Given the description of an element on the screen output the (x, y) to click on. 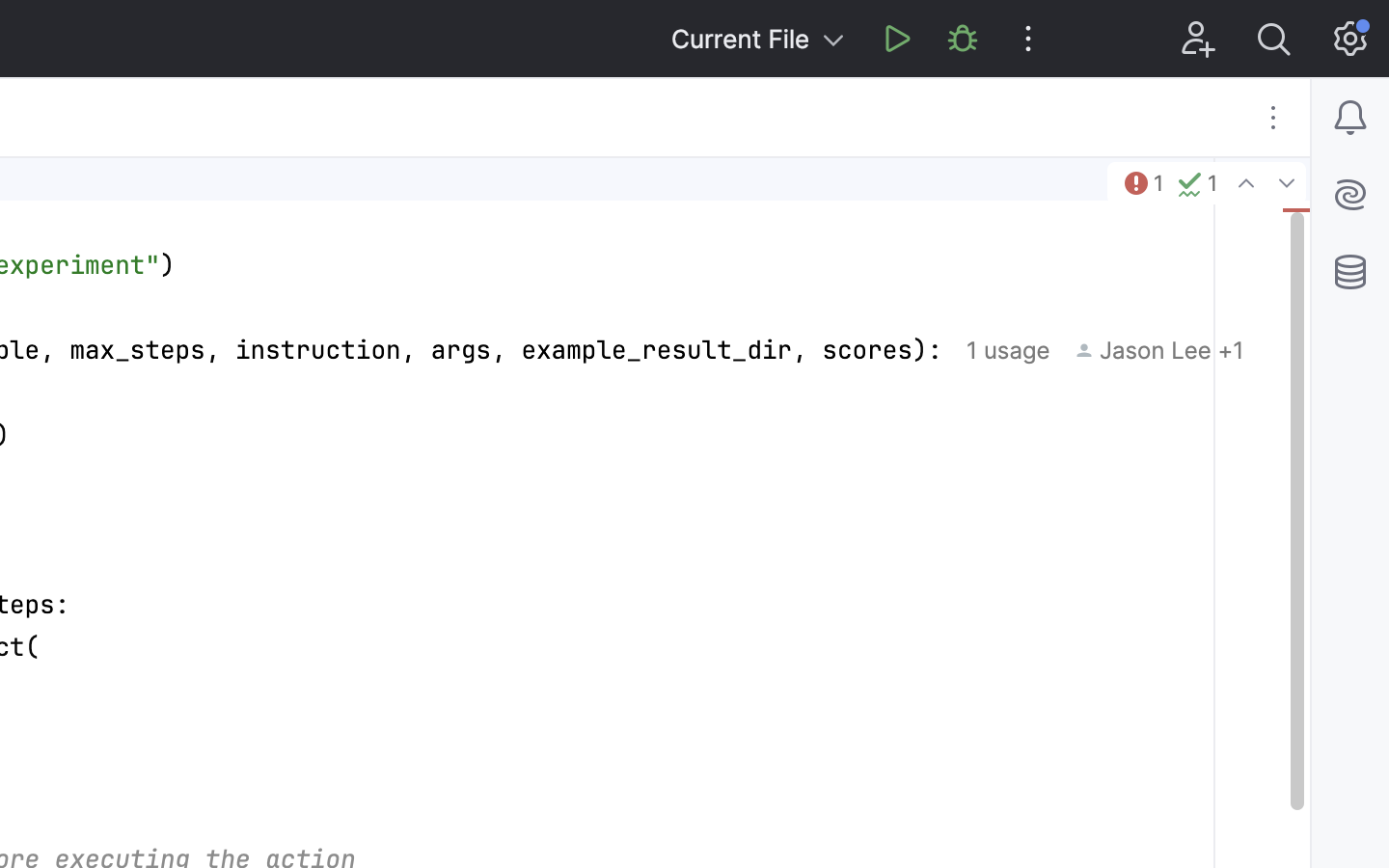
1 Element type: AXStaticText (1141, 182)
